Given the description of an element on the screen output the (x, y) to click on. 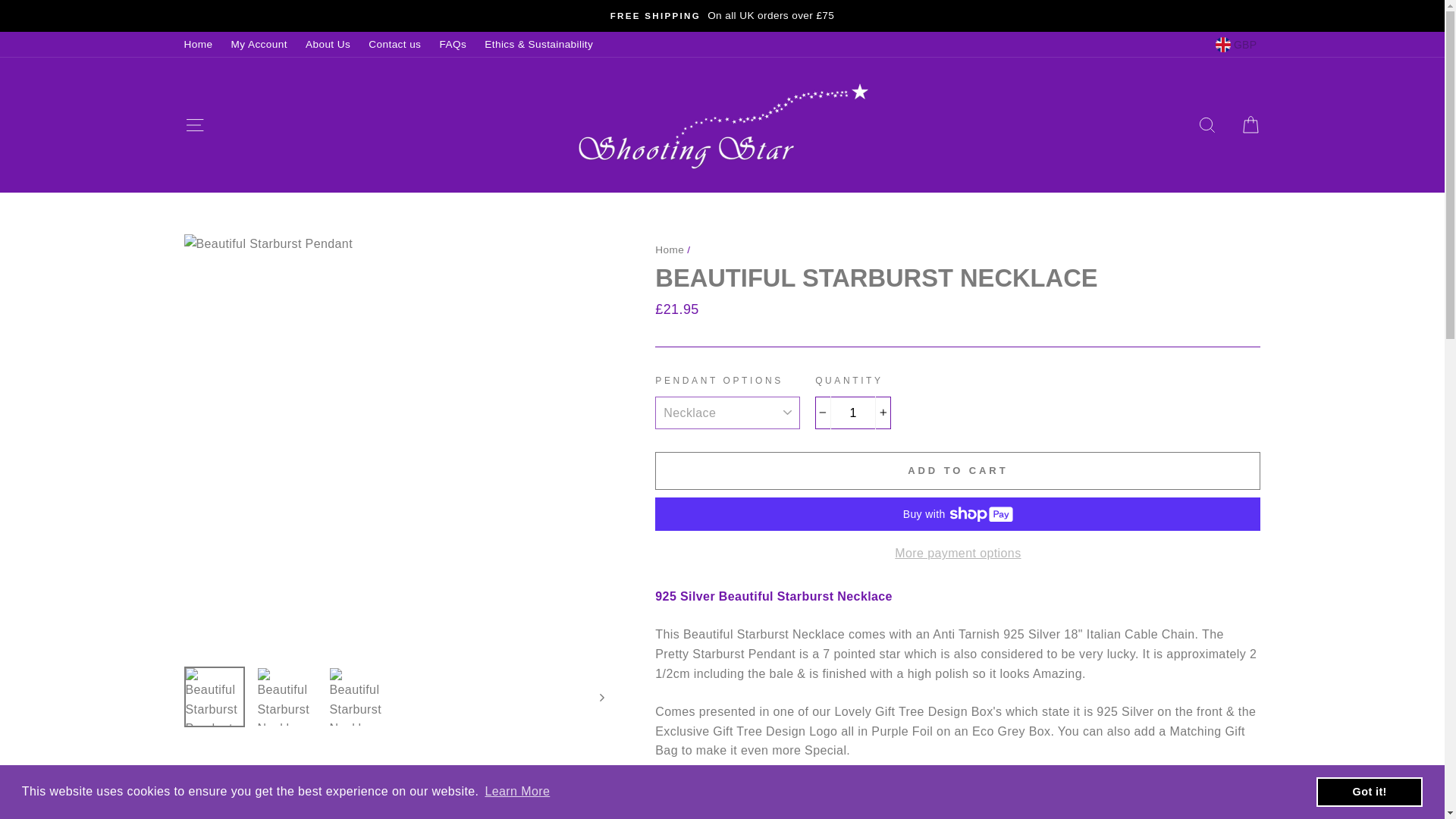
1 (853, 412)
Got it! (1369, 791)
Back to the frontpage (669, 249)
Learn More (516, 791)
